Given the description of an element on the screen output the (x, y) to click on. 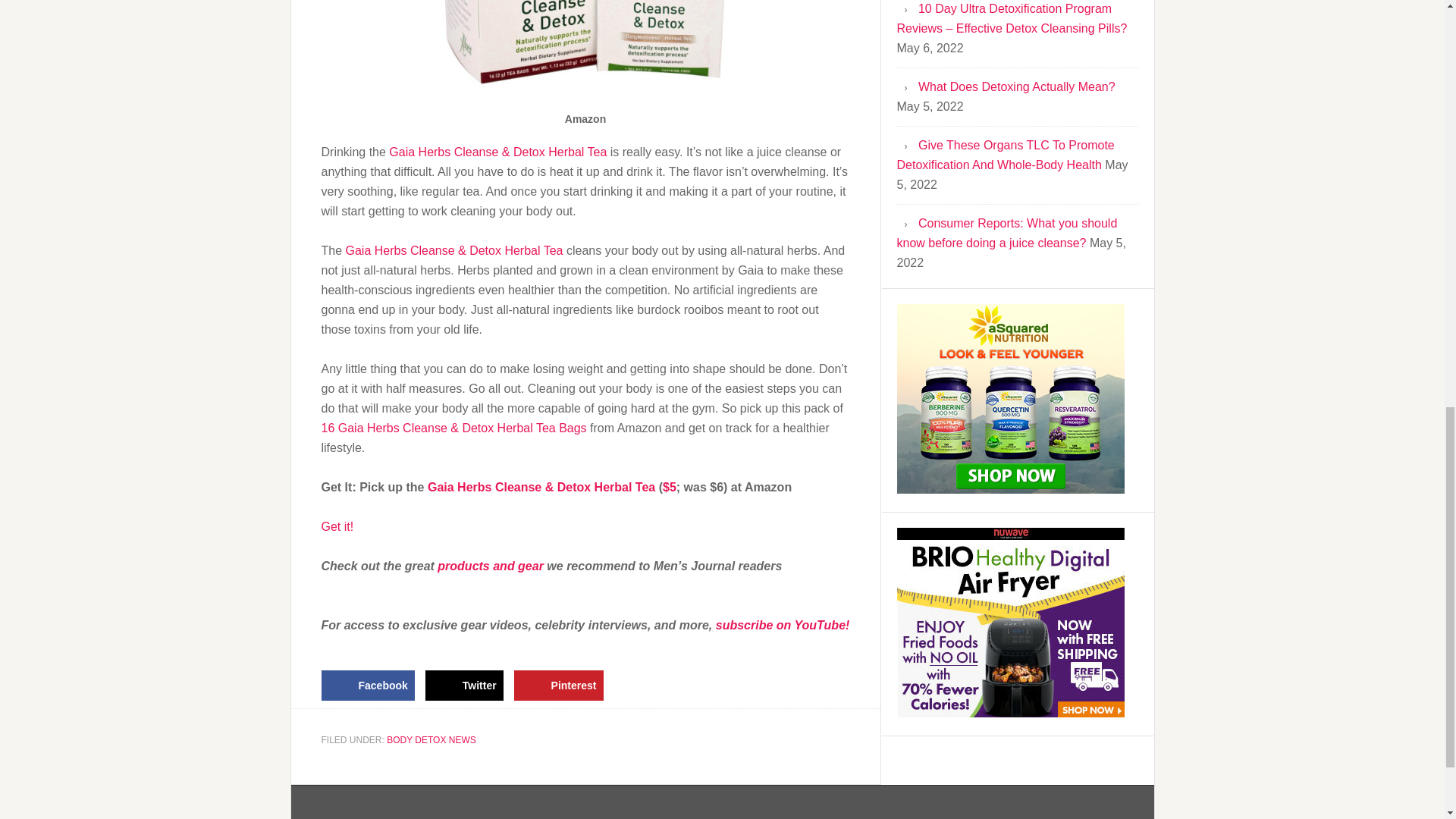
subscribe on YouTube! (783, 625)
Twitter (464, 685)
Save to Pinterest (558, 685)
BODY DETOX NEWS (431, 739)
Get it! (337, 526)
Facebook (367, 685)
What Does Detoxing Actually Mean? (1016, 86)
Pinterest (558, 685)
